Given the description of an element on the screen output the (x, y) to click on. 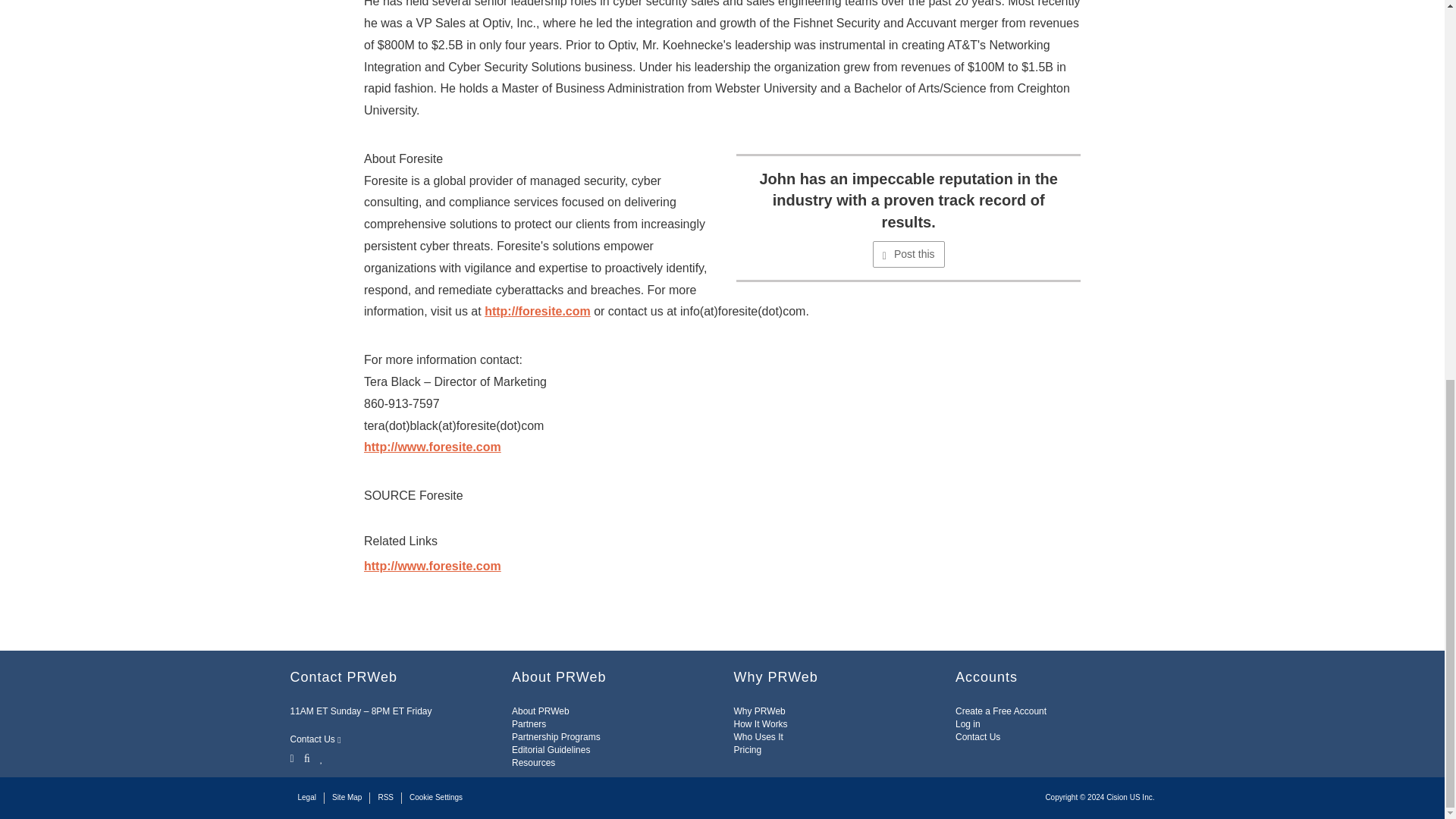
Facebook (306, 757)
Editorial Guidelines (550, 749)
Why PRWeb (759, 710)
How It Works (760, 724)
Resources (533, 762)
About PRWeb (540, 710)
Partnership Programs (555, 737)
Partners (529, 724)
